Given the description of an element on the screen output the (x, y) to click on. 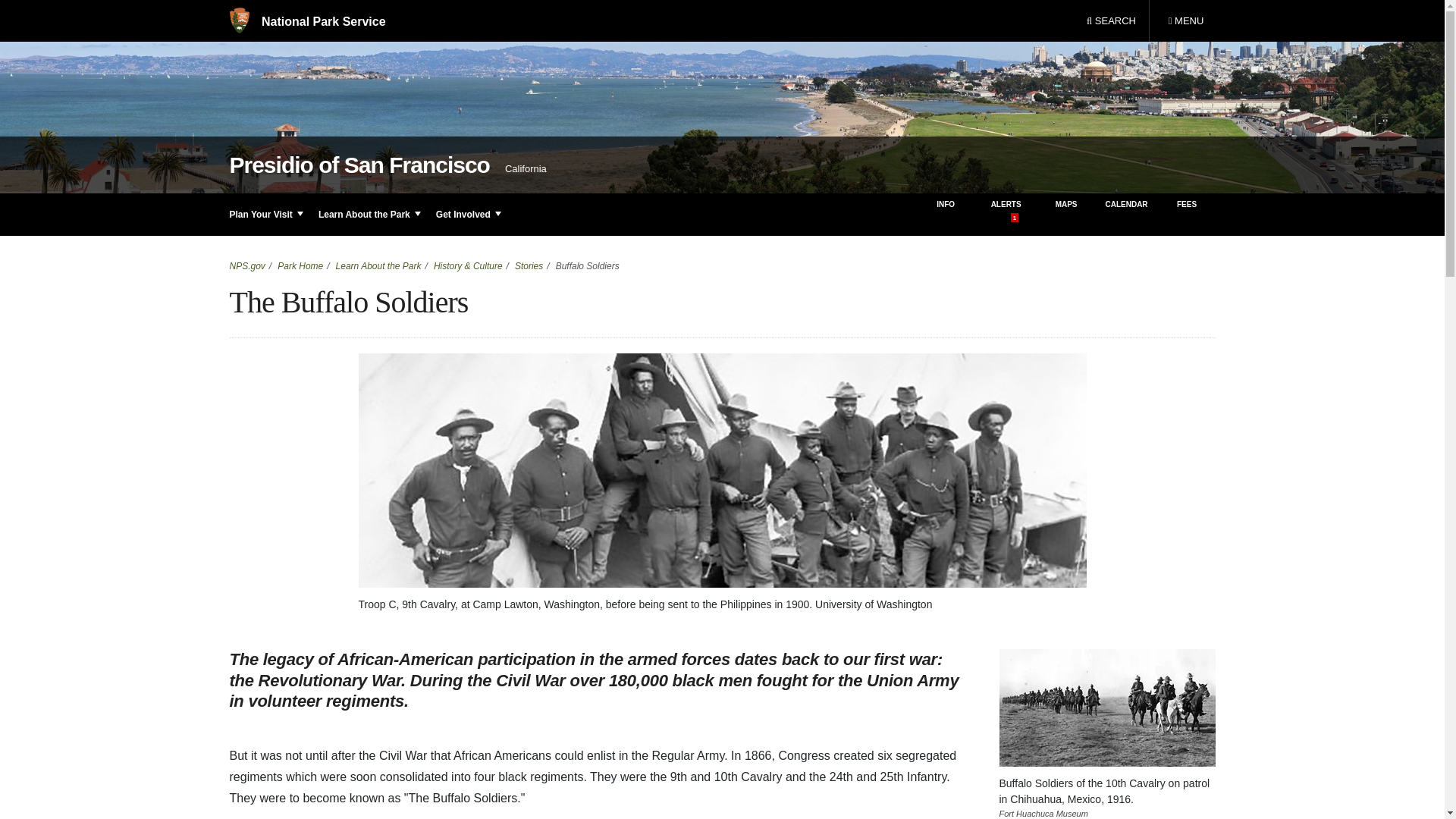
SEARCH (1111, 20)
National Park Service (1185, 20)
